Given the description of an element on the screen output the (x, y) to click on. 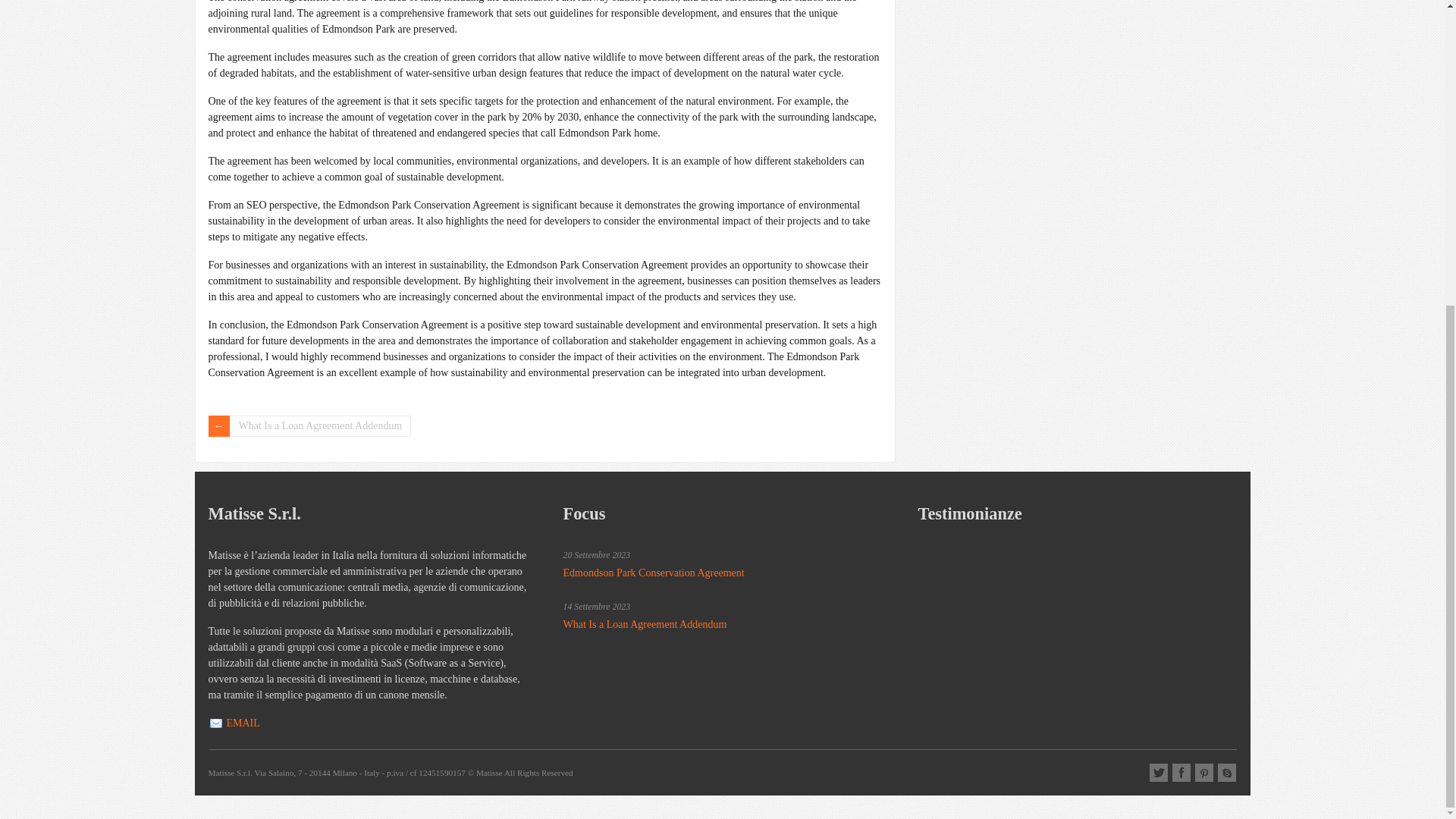
EMAIL (242, 722)
Edmondson Park Conservation Agreement (653, 572)
What Is a Loan Agreement Addendum (644, 624)
What Is a Loan Agreement Addendum (309, 425)
